Given the description of an element on the screen output the (x, y) to click on. 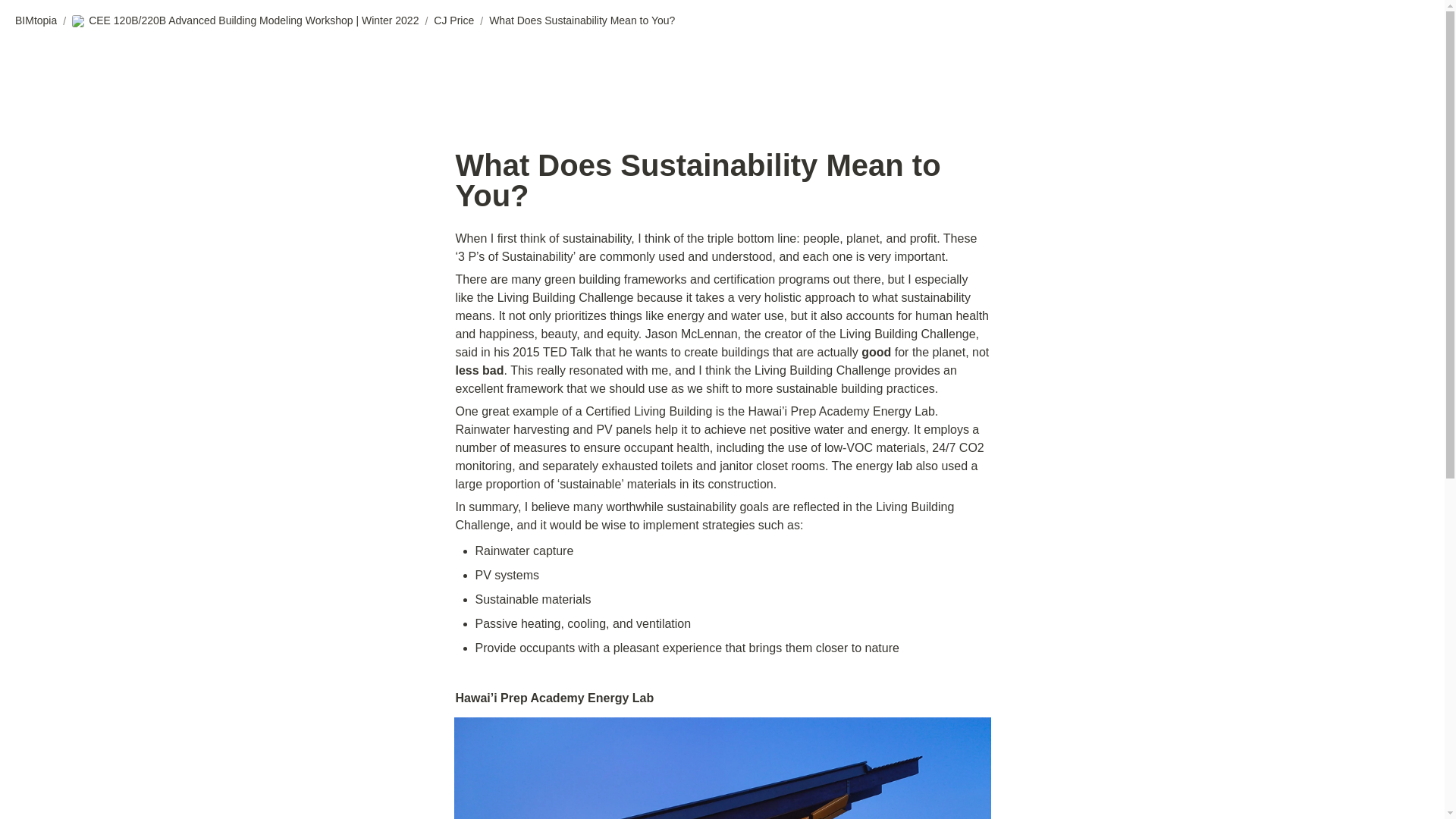
What Does Sustainability Mean to You? (581, 21)
BIMtopia (35, 21)
CJ Price (454, 21)
